Given the description of an element on the screen output the (x, y) to click on. 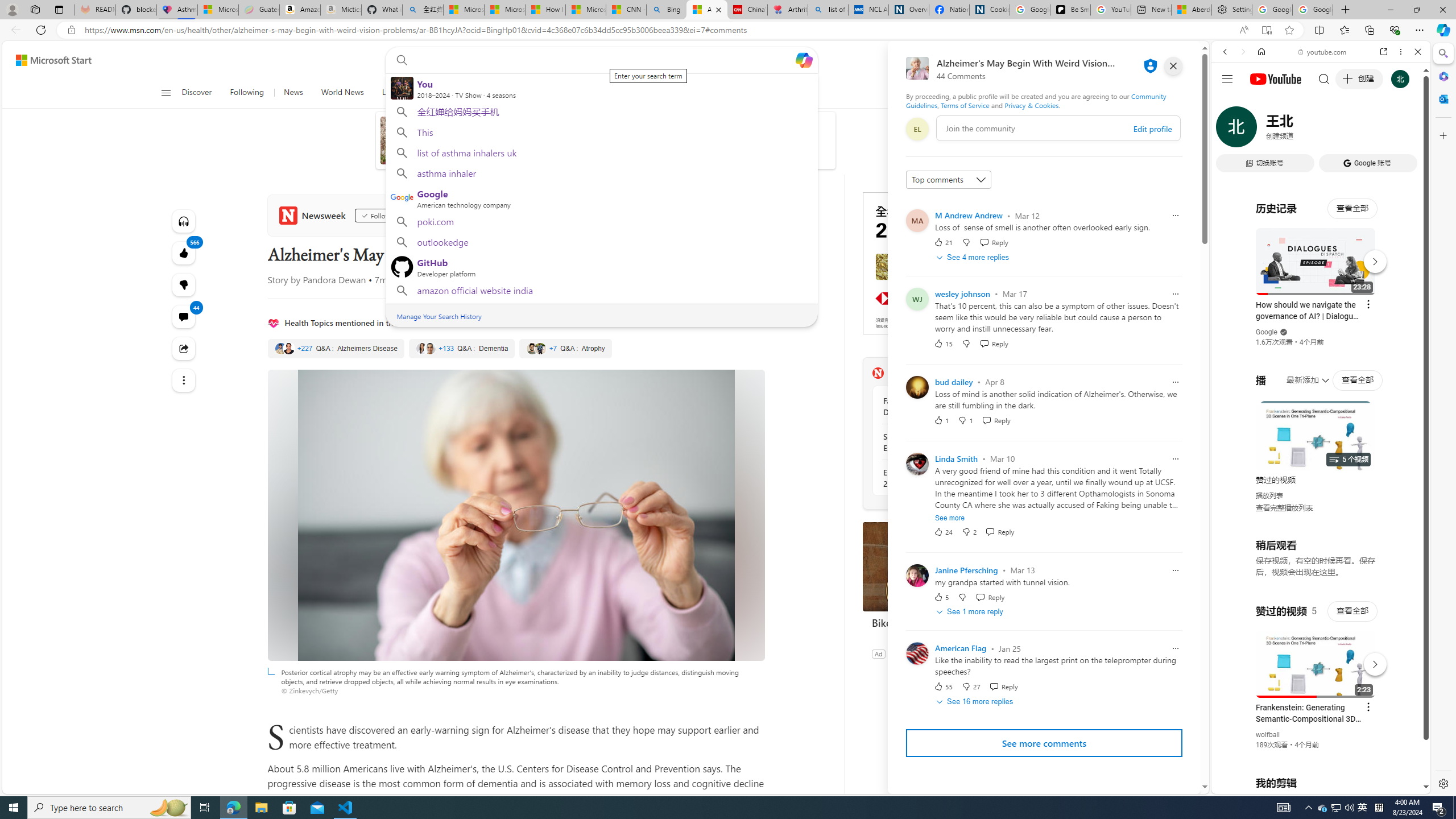
Google (1320, 281)
amazon official website india (601, 292)
